Given the description of an element on the screen output the (x, y) to click on. 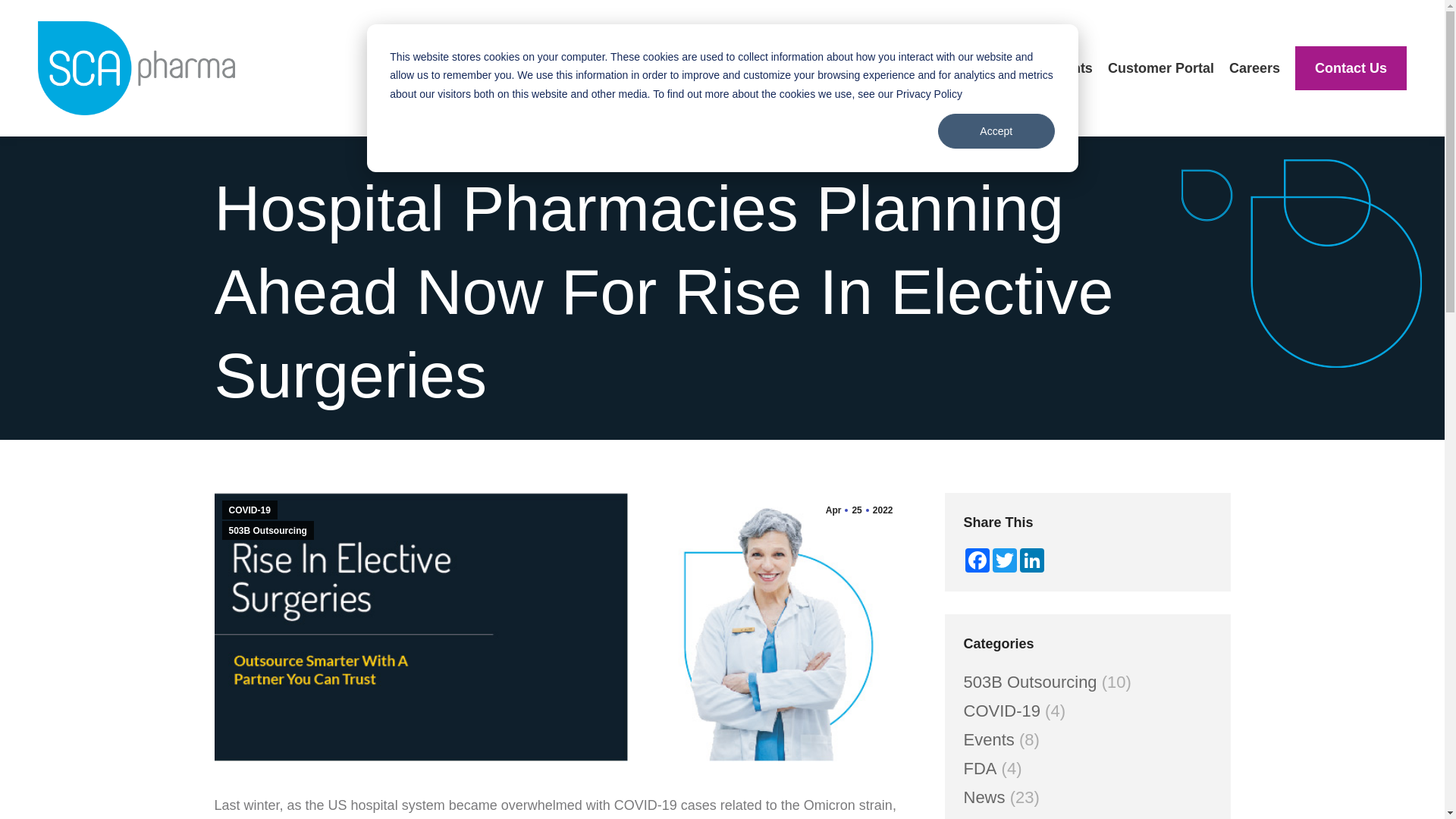
Customer Portal (1161, 68)
Why Choose SCA Pharma? (705, 68)
Careers (1253, 68)
COVID-19 (248, 509)
10:07 am (858, 509)
Contact Us (1350, 68)
News and Events (1036, 68)
Leading 503B Solutions (887, 68)
